Given the description of an element on the screen output the (x, y) to click on. 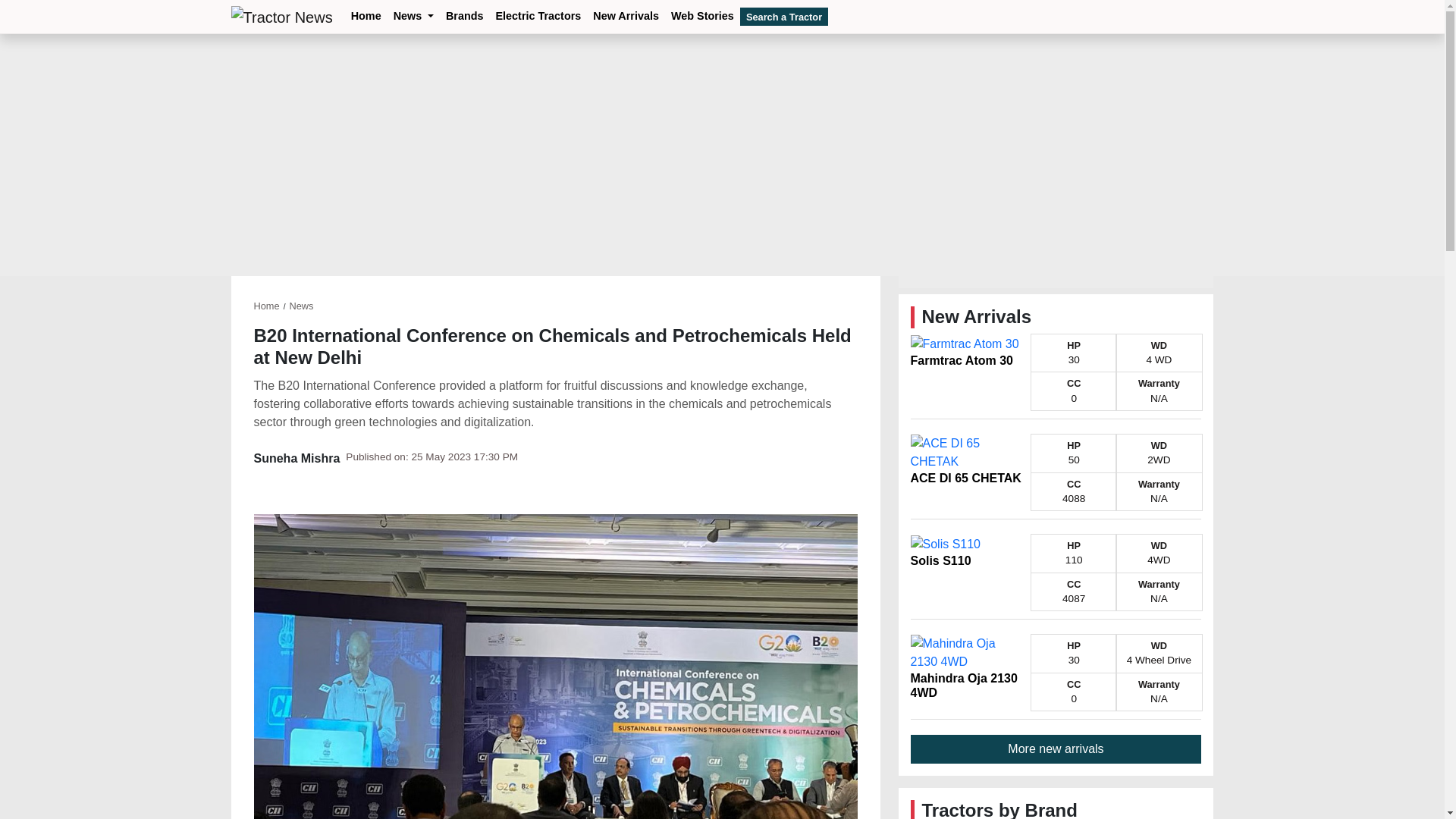
Electric Tractors (538, 16)
Tractor News (280, 16)
Suneha Mishra (296, 458)
New Tractors (625, 16)
Home (266, 306)
Search a Tractor (783, 16)
Home (366, 16)
Tractor brands in India (464, 16)
Electric Tractors (538, 16)
Brands (464, 16)
